Given the description of an element on the screen output the (x, y) to click on. 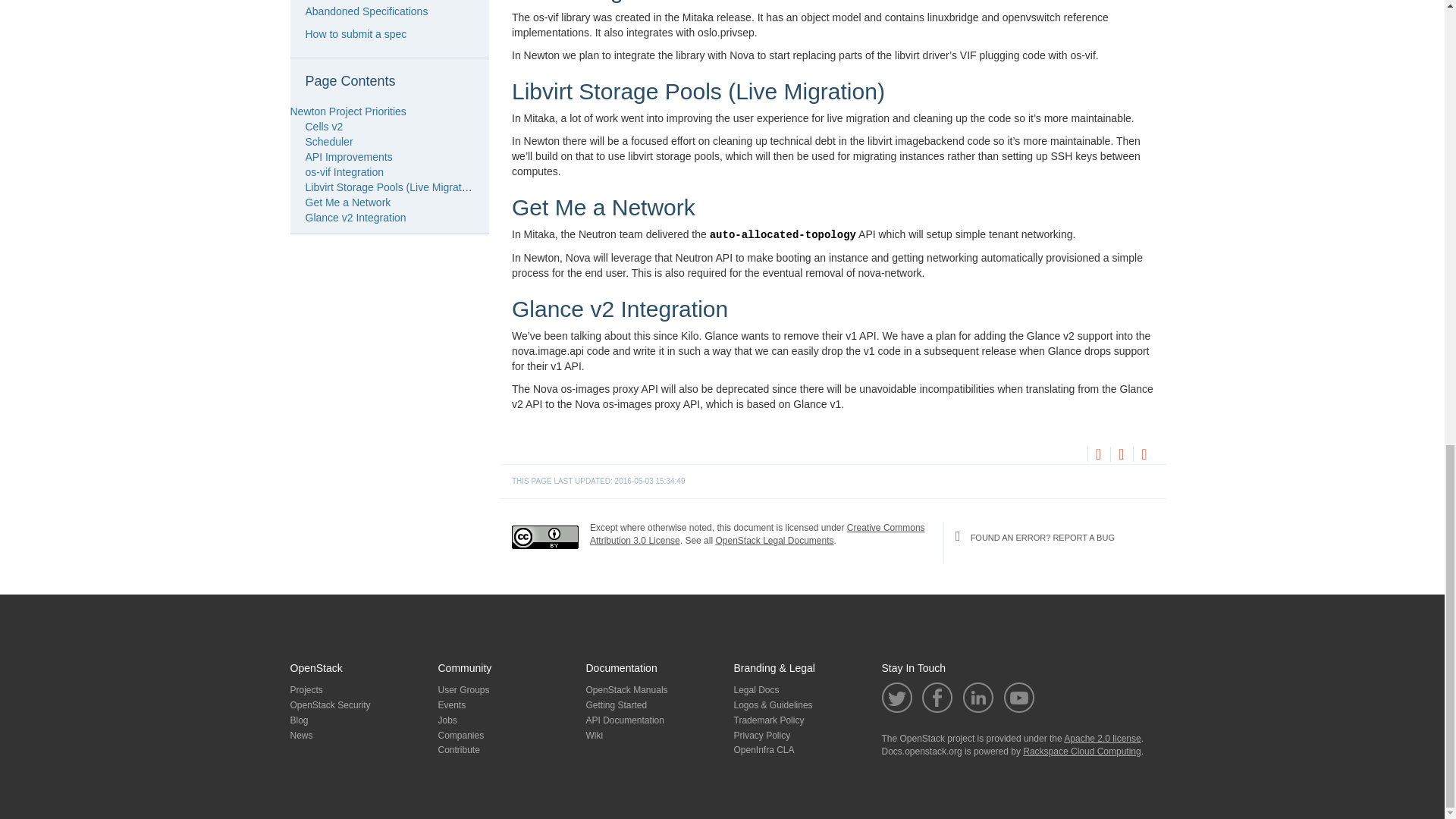
Found an error? Report a bug against this page (1143, 455)
